Given the description of an element on the screen output the (x, y) to click on. 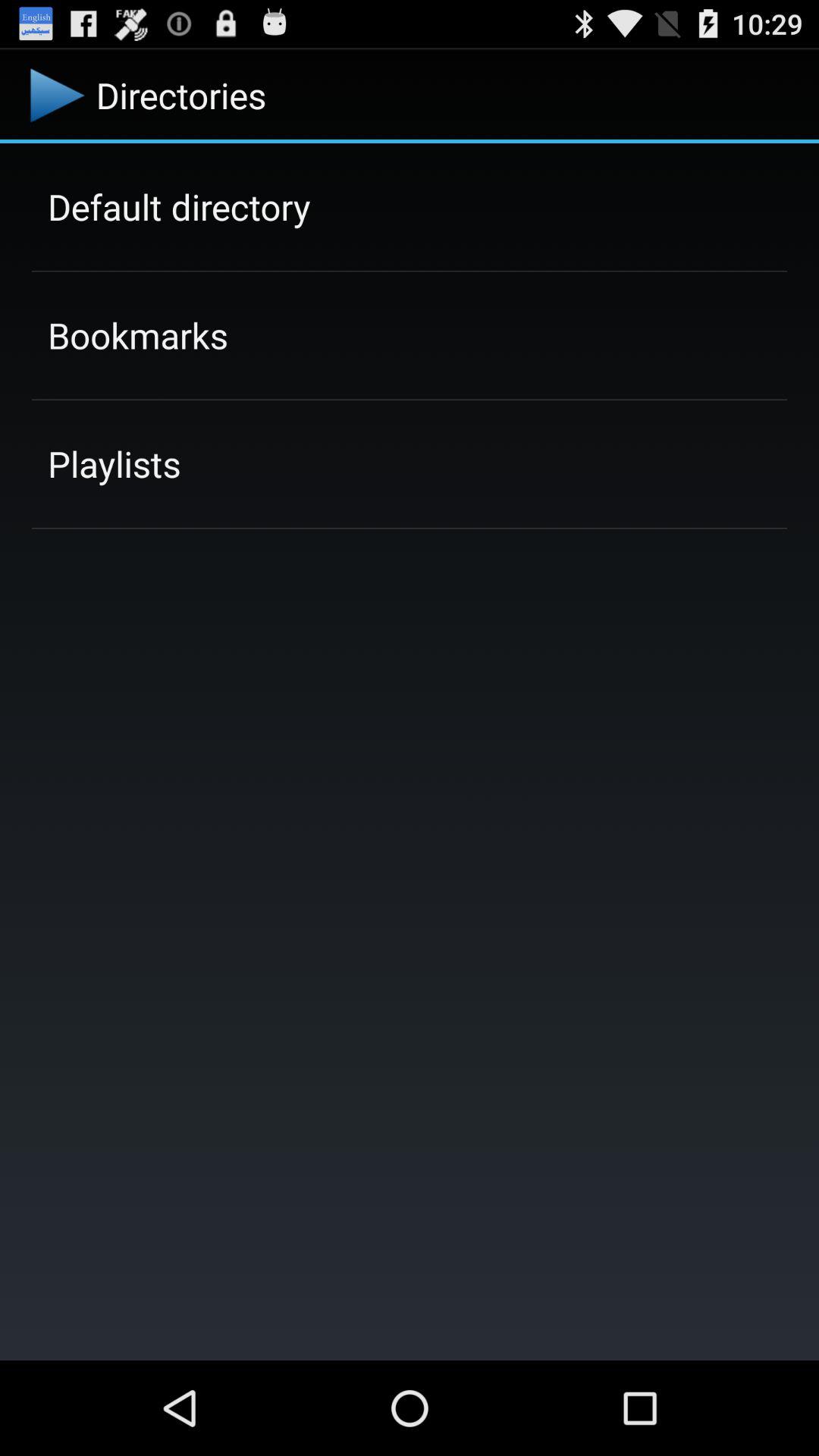
click default directory item (178, 206)
